Given the description of an element on the screen output the (x, y) to click on. 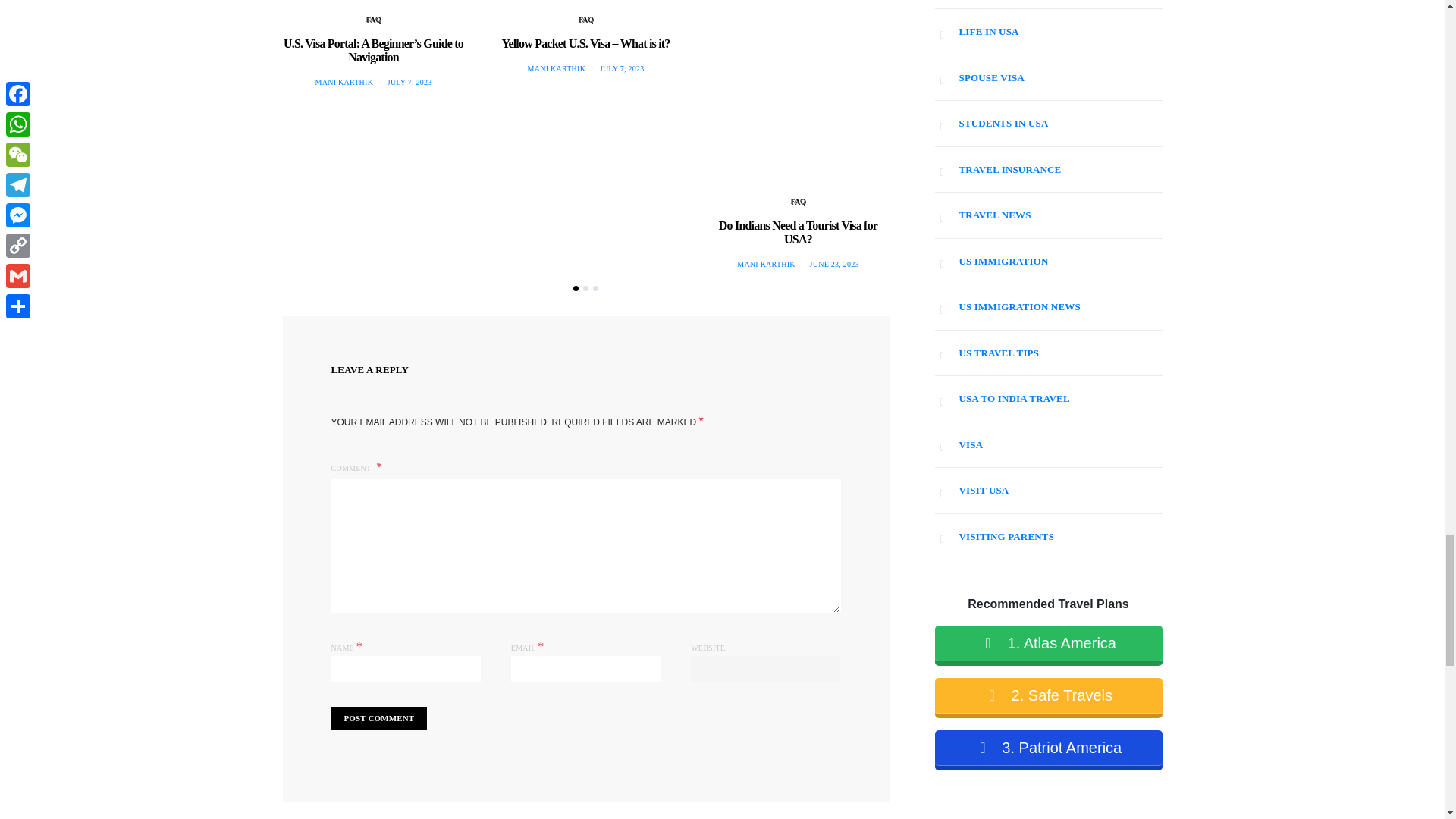
View all posts by Mani Karthik (344, 81)
Post Comment (378, 718)
View all posts by Mani Karthik (765, 264)
View all posts by Mani Karthik (556, 68)
